Given the description of an element on the screen output the (x, y) to click on. 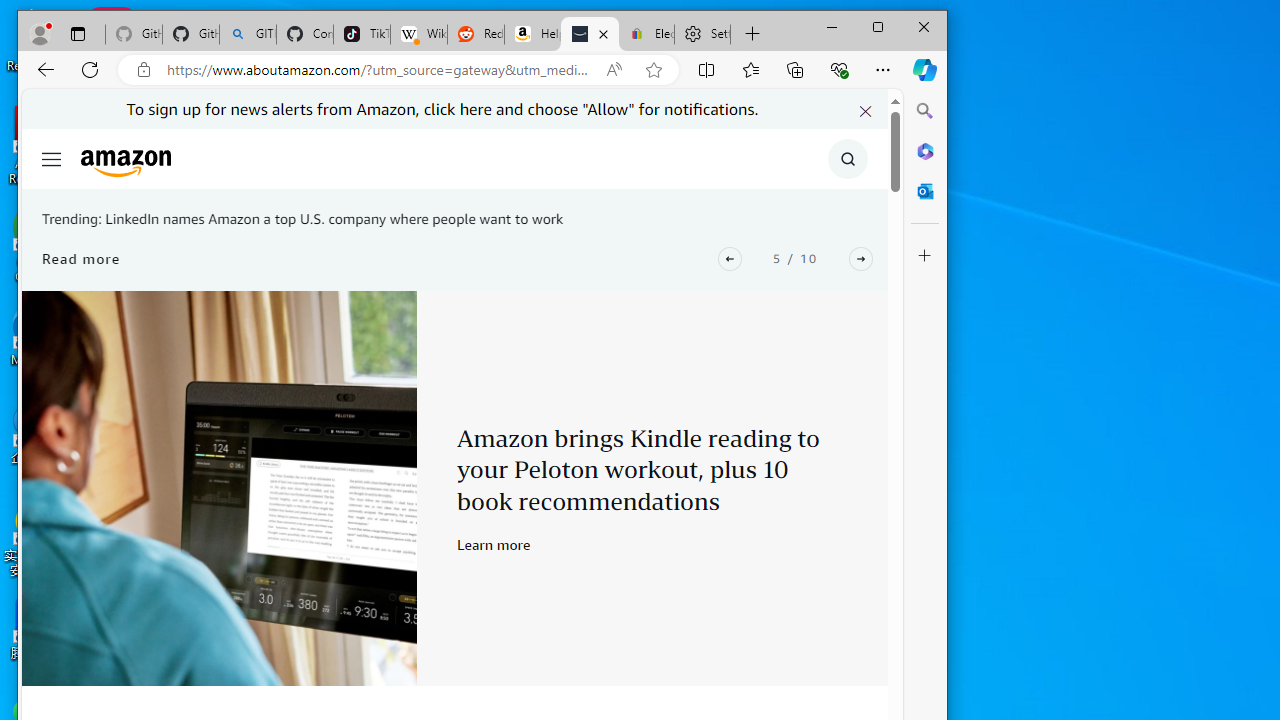
TikTok (362, 34)
Class: burger-menu (51, 159)
Peloton x Kindle (219, 488)
Read more (81, 258)
